Given the description of an element on the screen output the (x, y) to click on. 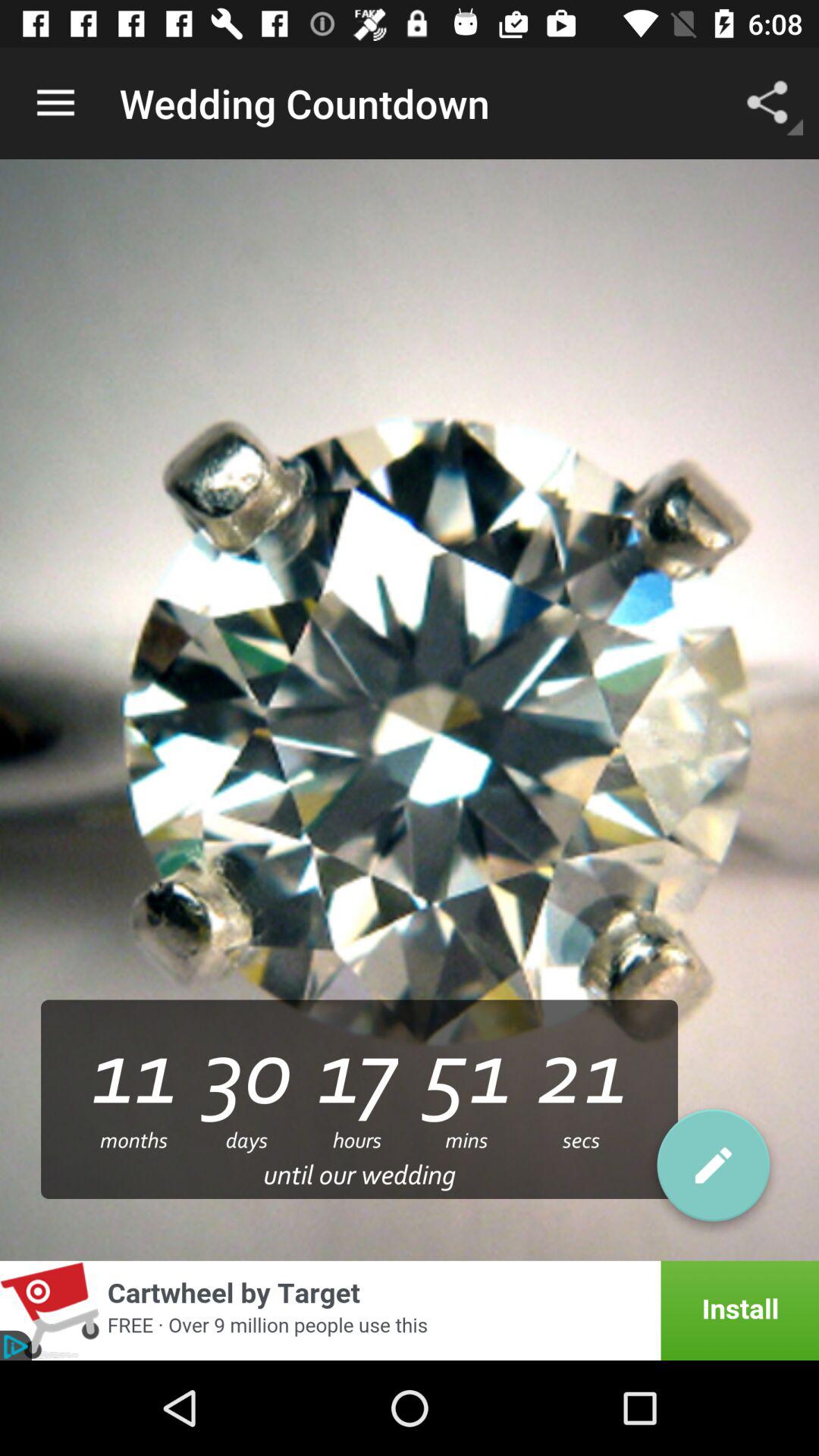
click on share icon (771, 79)
select the text below the diamond stone (359, 1099)
